Given the description of an element on the screen output the (x, y) to click on. 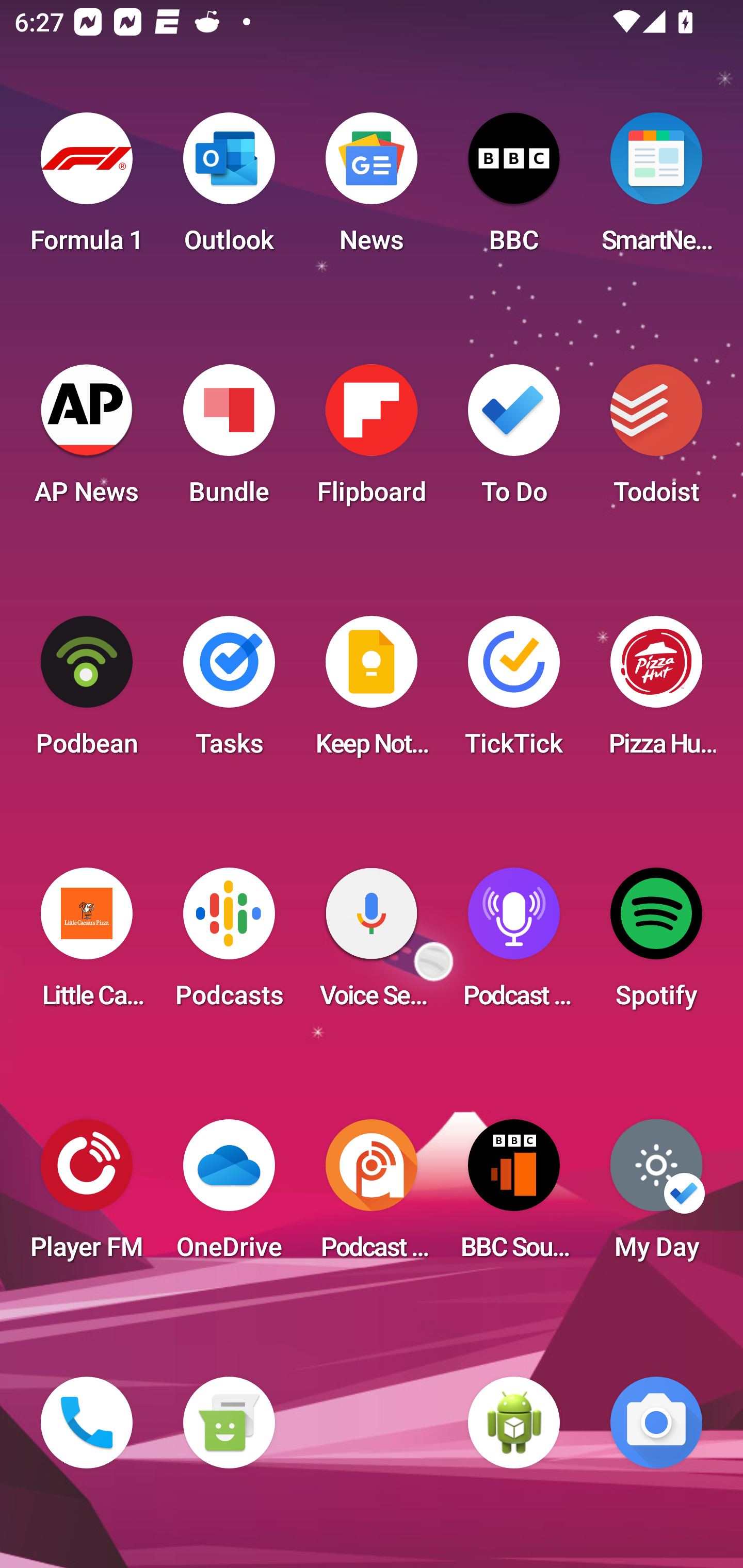
Formula 1 (86, 188)
Outlook (228, 188)
News (371, 188)
BBC (513, 188)
SmartNews (656, 188)
AP News (86, 440)
Bundle (228, 440)
Flipboard (371, 440)
To Do (513, 440)
Todoist (656, 440)
Podbean (86, 692)
Tasks (228, 692)
Keep Notes (371, 692)
TickTick (513, 692)
Pizza Hut HK & Macau (656, 692)
Little Caesars Pizza (86, 943)
Podcasts (228, 943)
Voice Search (371, 943)
Podcast Player (513, 943)
Spotify (656, 943)
Player FM (86, 1195)
OneDrive (228, 1195)
Podcast Addict (371, 1195)
BBC Sounds (513, 1195)
My Day (656, 1195)
Phone (86, 1422)
Messaging (228, 1422)
WebView Browser Tester (513, 1422)
Camera (656, 1422)
